Given the description of an element on the screen output the (x, y) to click on. 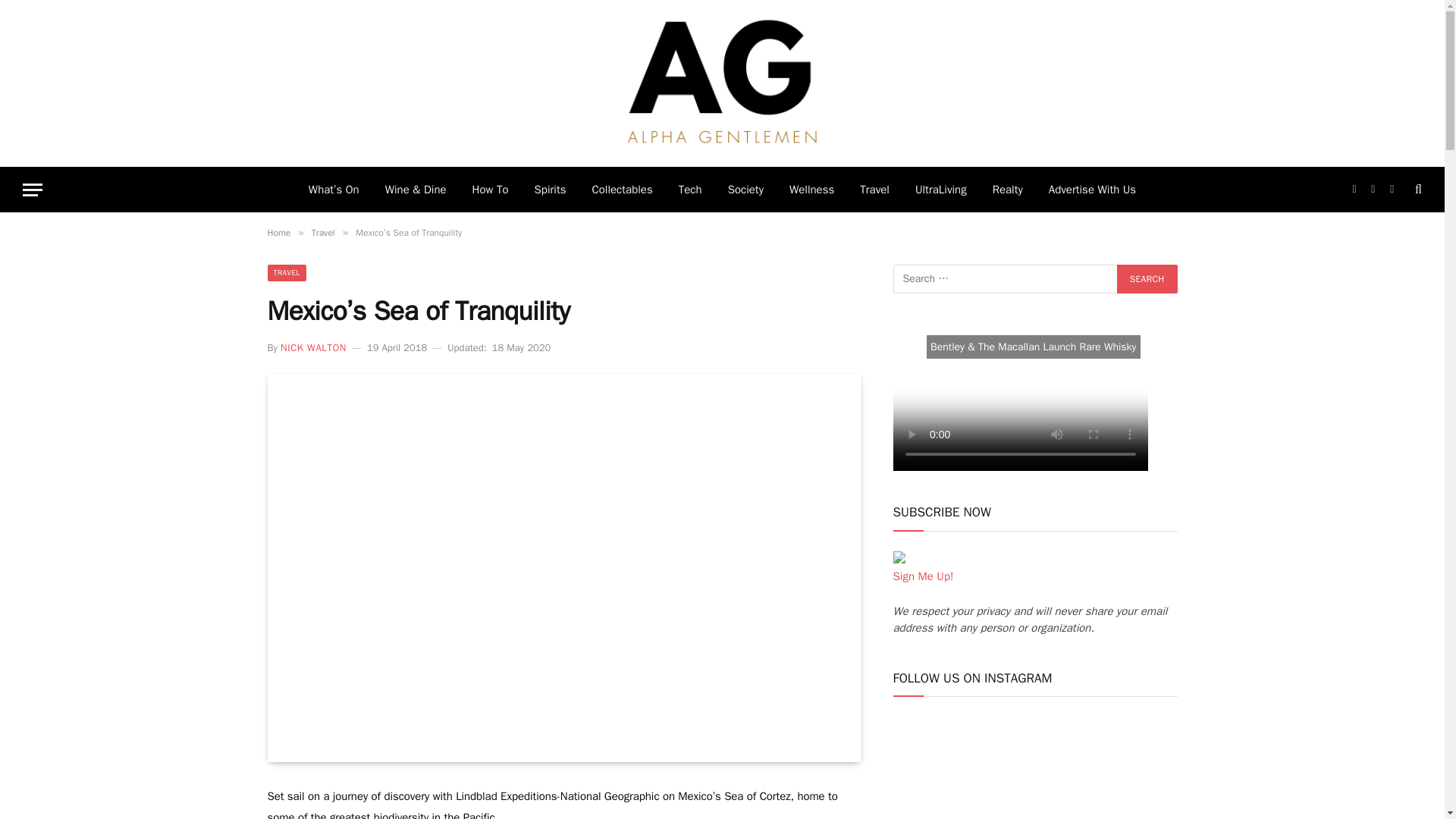
Search (1146, 278)
Search (1417, 189)
How To (490, 189)
Wellness (811, 189)
Search (1146, 278)
Realty (1007, 189)
Instagram (1391, 189)
Collectables (621, 189)
Posts by Nick Walton (313, 347)
Facebook (1353, 189)
Tech (689, 189)
Advertise With Us (1091, 189)
Spirits (550, 189)
Travel (874, 189)
